Given the description of an element on the screen output the (x, y) to click on. 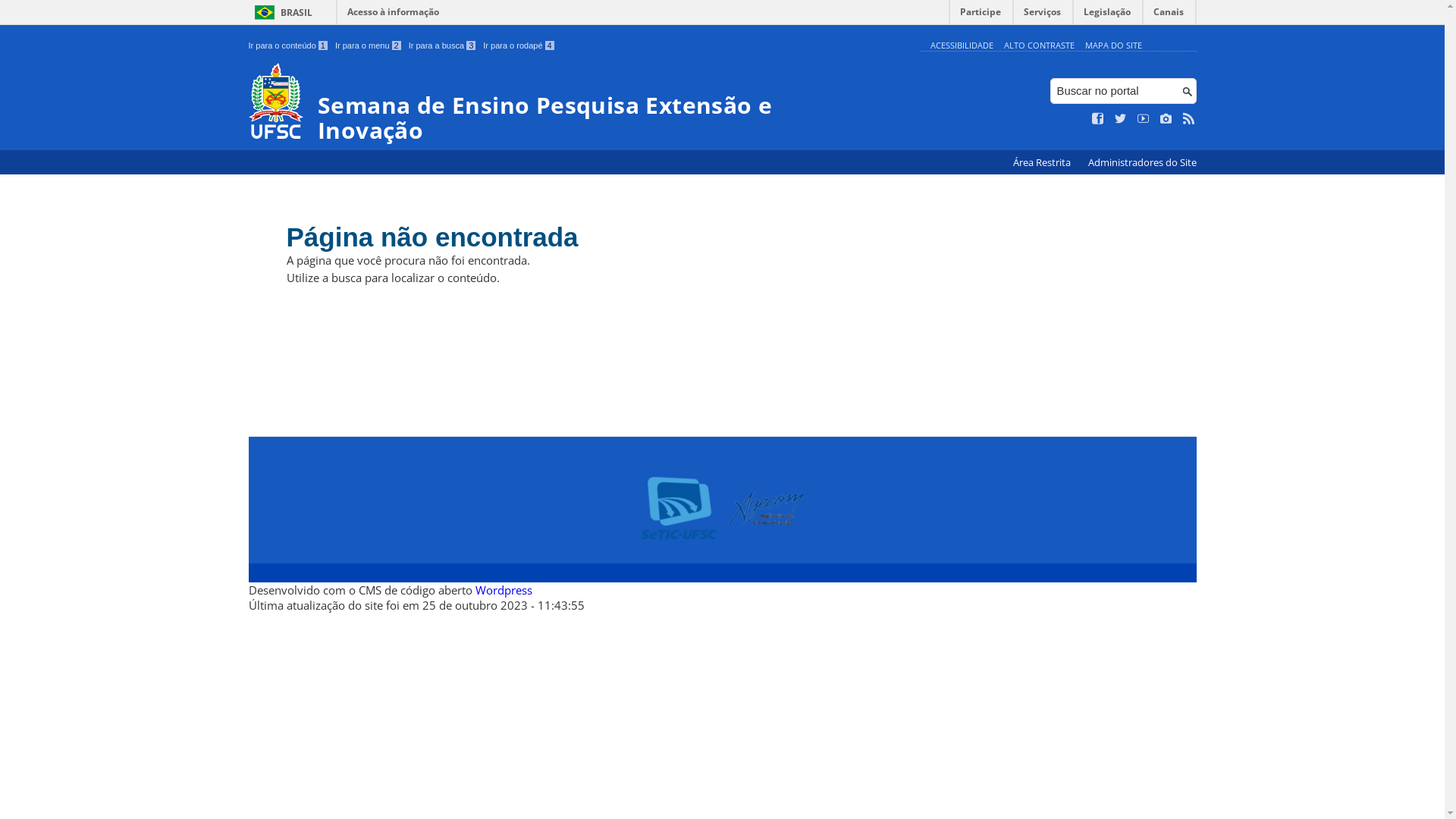
ALTO CONTRASTE Element type: text (1039, 44)
Ir para o menu 2 Element type: text (368, 45)
BRASIL Element type: text (280, 12)
Veja no Instagram Element type: hover (1166, 118)
Curta no Facebook Element type: hover (1098, 118)
Wordpress Element type: text (502, 589)
Administradores do Site Element type: text (1141, 162)
Canais Element type: text (1169, 15)
Siga no Twitter Element type: hover (1120, 118)
Ir para a busca 3 Element type: text (442, 45)
MAPA DO SITE Element type: text (1112, 44)
Participe Element type: text (980, 15)
ACESSIBILIDADE Element type: text (960, 44)
